Given the description of an element on the screen output the (x, y) to click on. 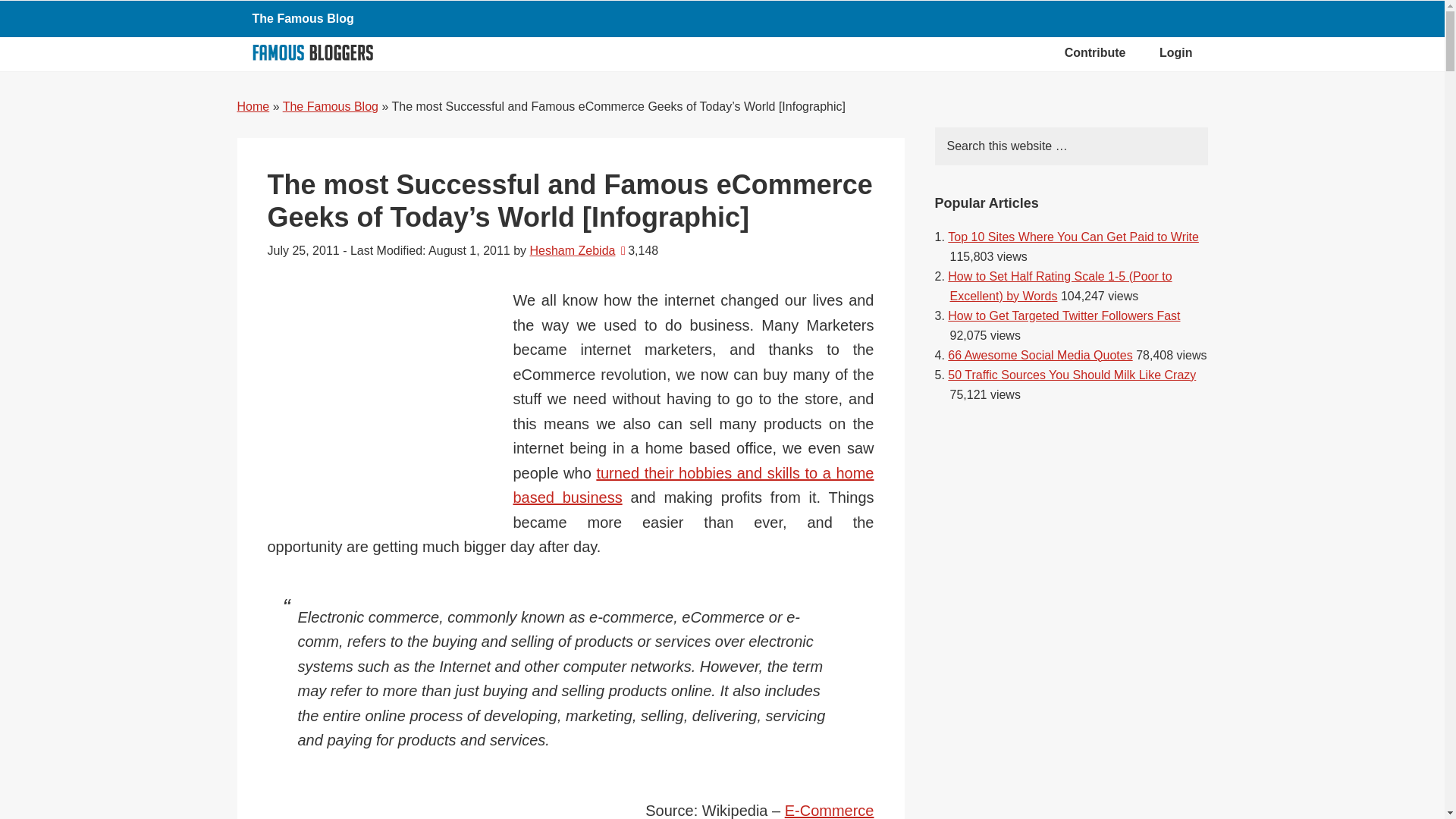
Famous Bloggers (311, 52)
The Famous Blog (330, 106)
E-Commerce (829, 810)
The Famous Blog (301, 18)
Home (252, 106)
Login (1176, 53)
Hesham Zebida (572, 250)
turned their hobbies and skills to a home based business (692, 485)
Turning Your Hobby Or Skill Into A Home Based Business (692, 485)
